Given the description of an element on the screen output the (x, y) to click on. 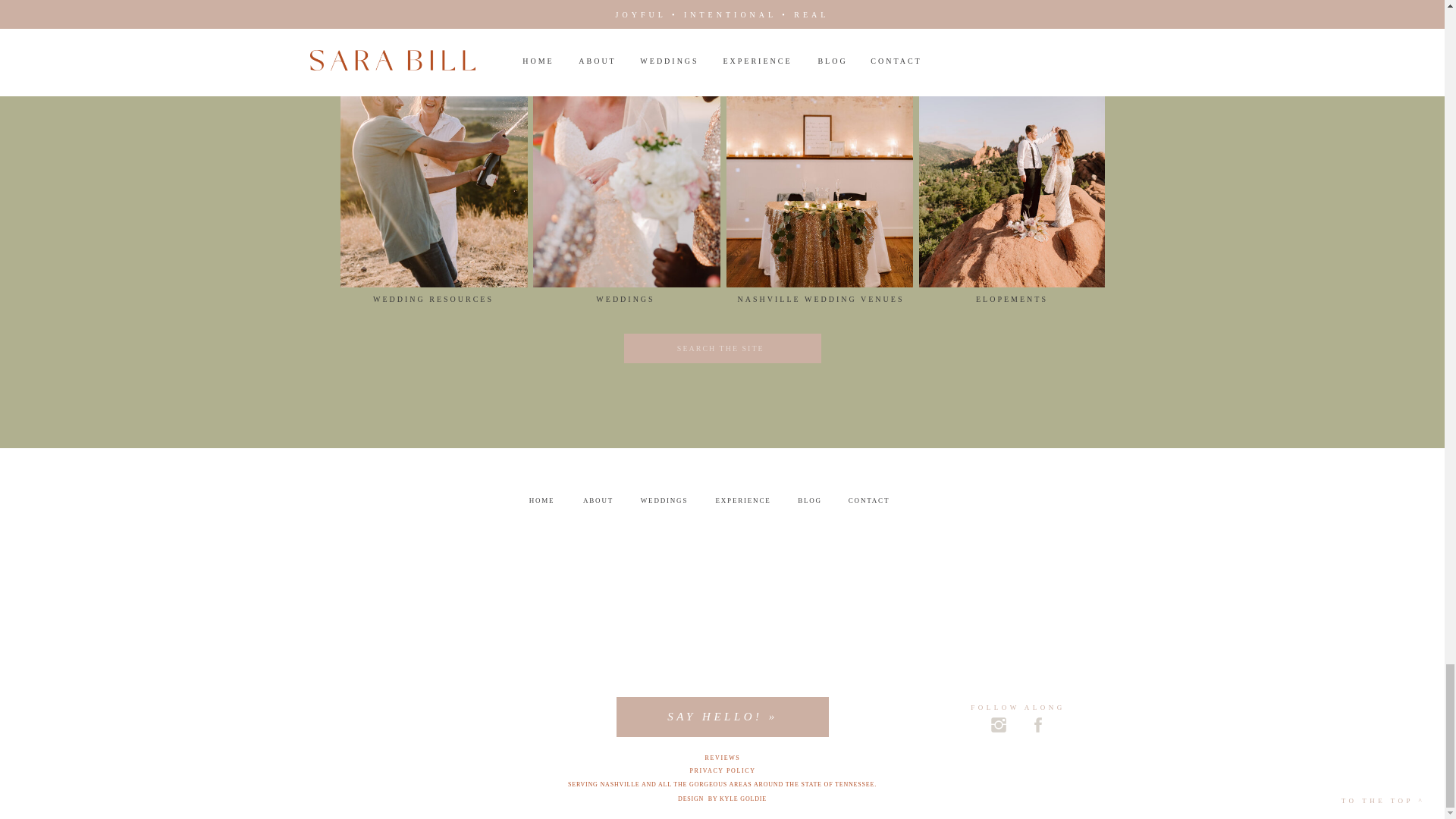
ELOPEMENTS (1010, 300)
